Given the description of an element on the screen output the (x, y) to click on. 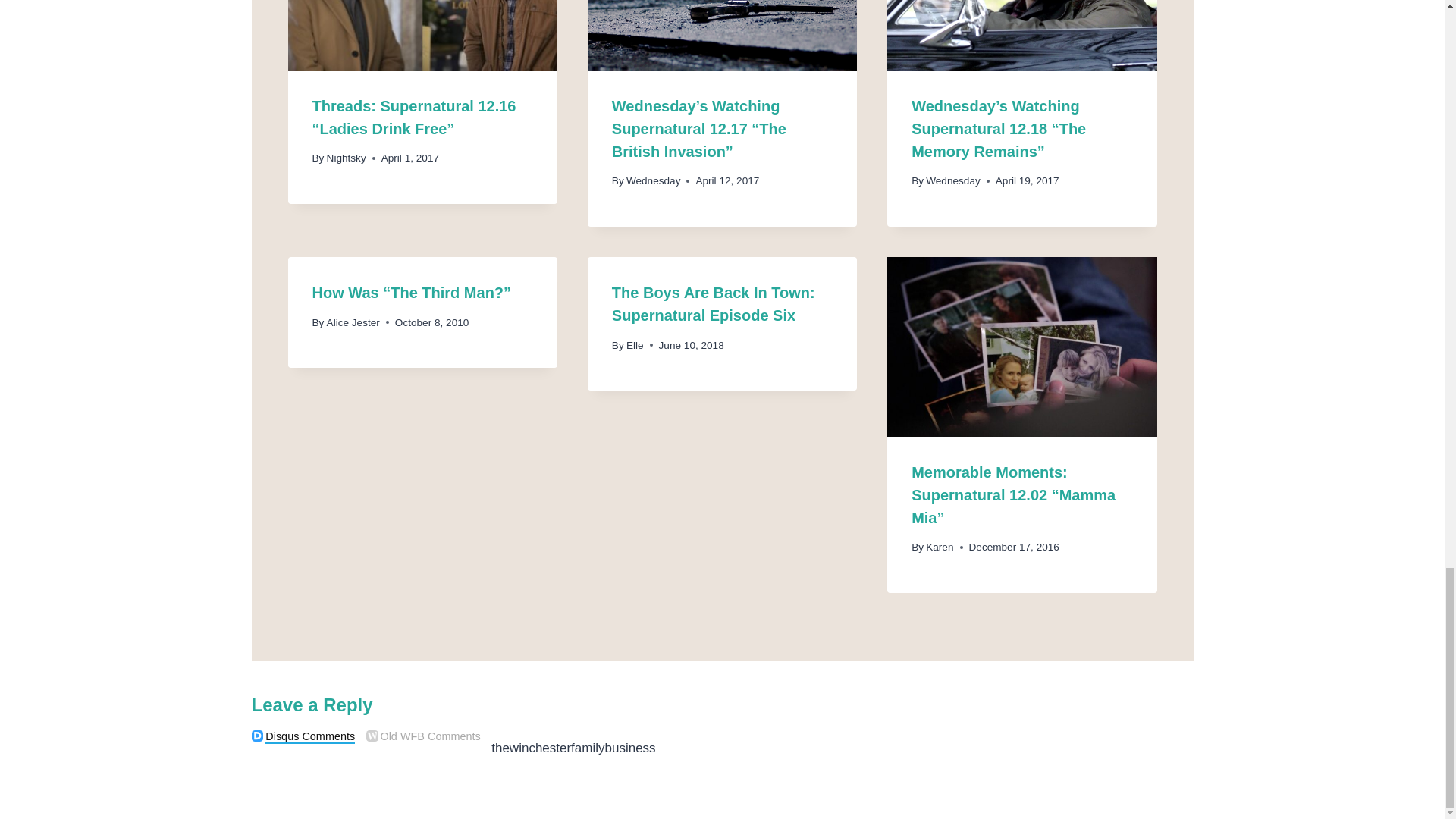
Disqus Comments (257, 736)
Old WFB Comments (372, 736)
Nightsky (346, 157)
